Given the description of an element on the screen output the (x, y) to click on. 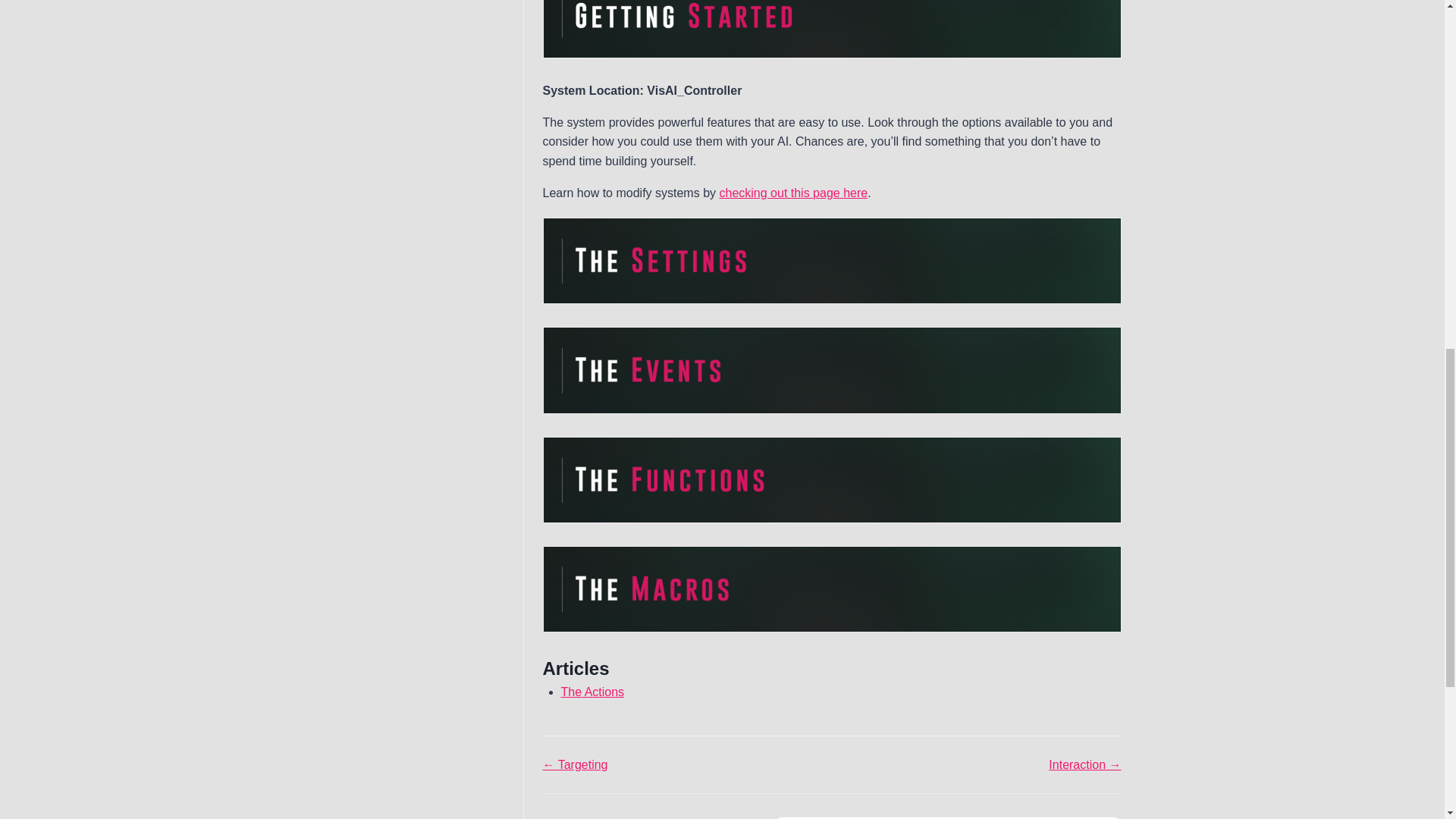
checking out this page here (793, 192)
The Actions (592, 691)
